Given the description of an element on the screen output the (x, y) to click on. 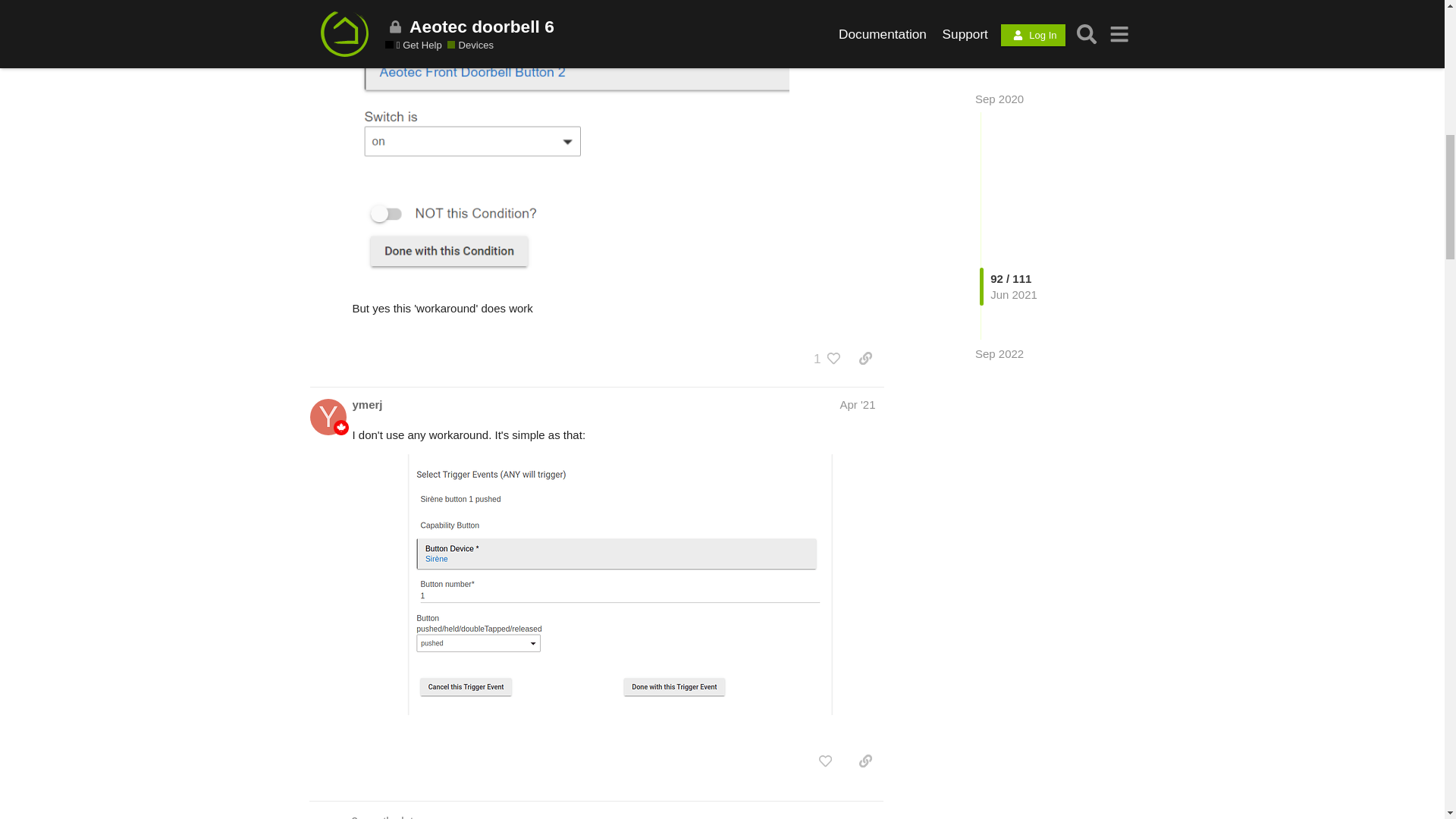
1 (825, 358)
ymerj (366, 404)
Apr '21 (857, 404)
